Given the description of an element on the screen output the (x, y) to click on. 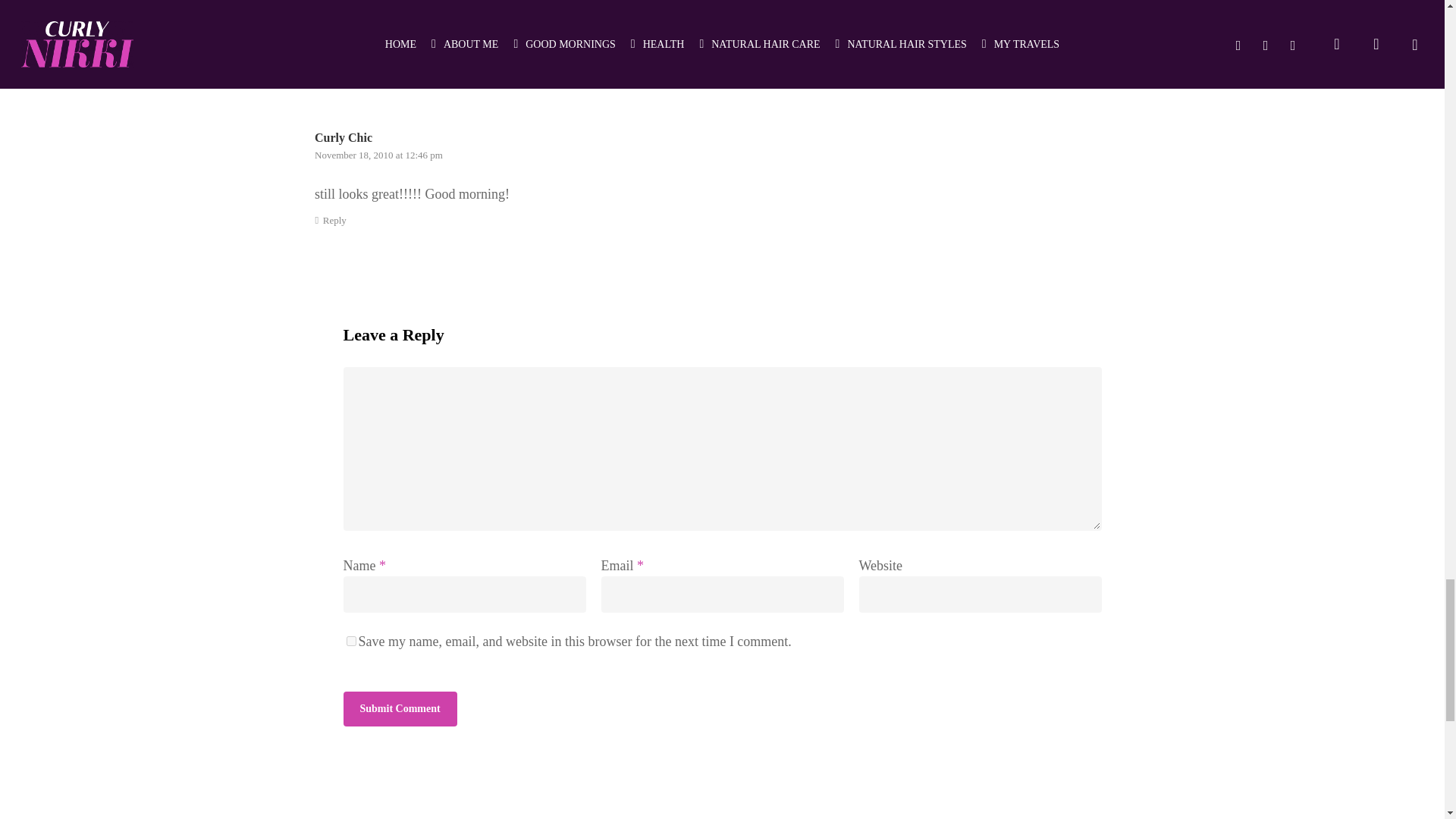
yes (350, 641)
Submit Comment (399, 708)
